Given the description of an element on the screen output the (x, y) to click on. 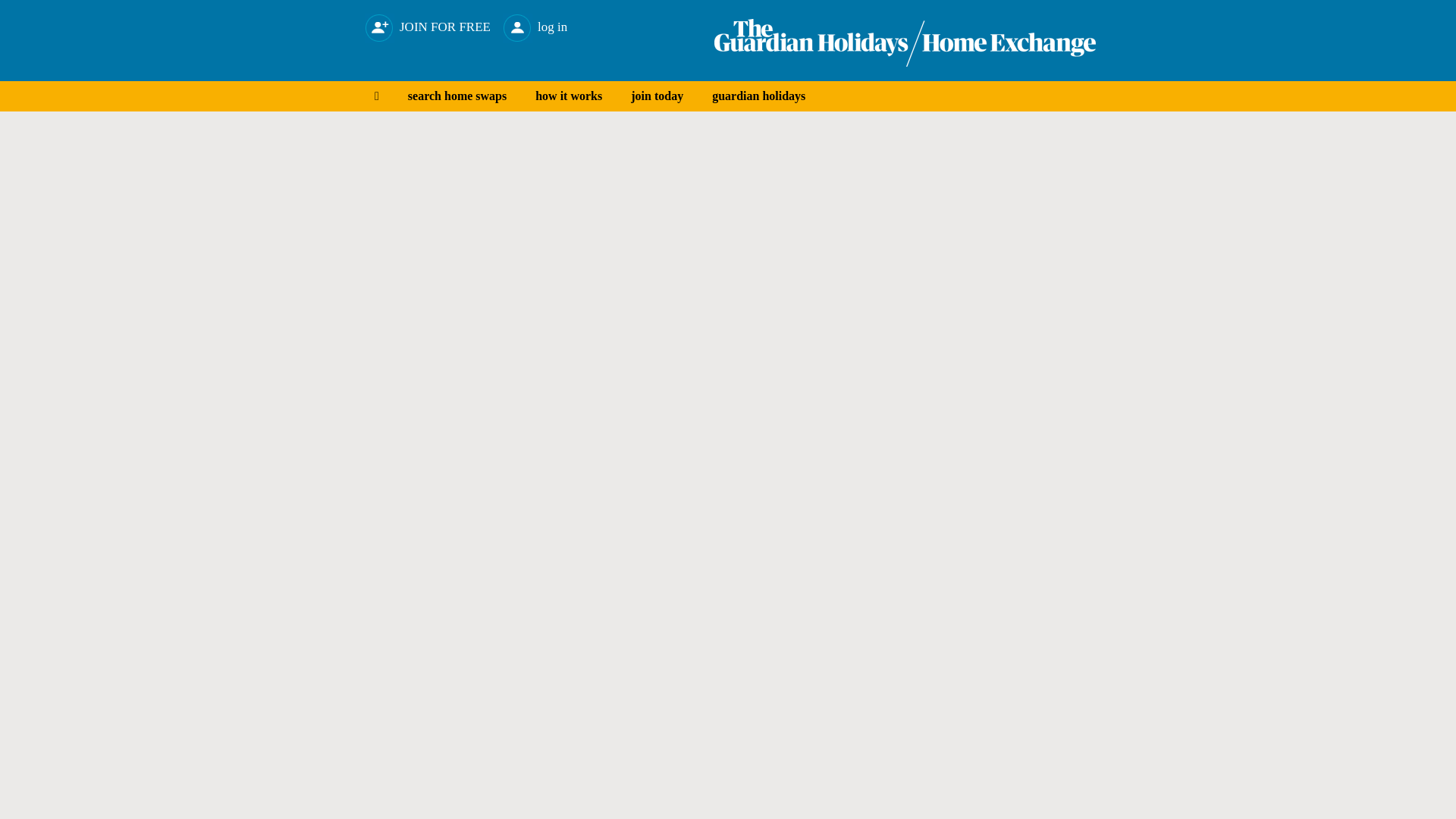
guardian holidays (758, 96)
join today (656, 96)
search home swaps (457, 96)
JOIN FOR FREE (427, 21)
log in (534, 21)
how it works (568, 96)
